Given the description of an element on the screen output the (x, y) to click on. 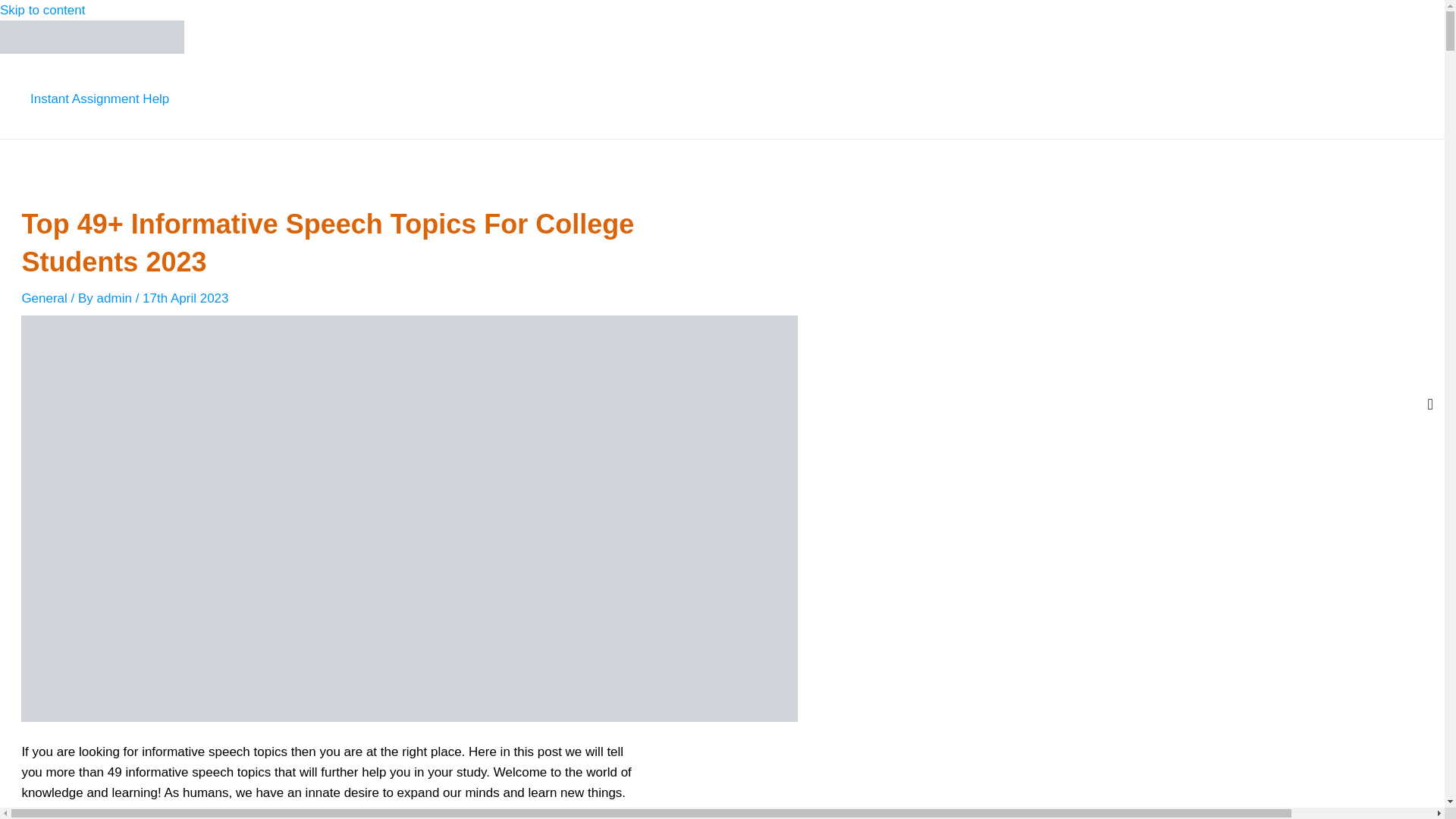
admin (116, 298)
Skip to content (42, 10)
View all posts by admin (116, 298)
Instant Assignment Help (99, 99)
General (43, 298)
Skip to content (42, 10)
